Given the description of an element on the screen output the (x, y) to click on. 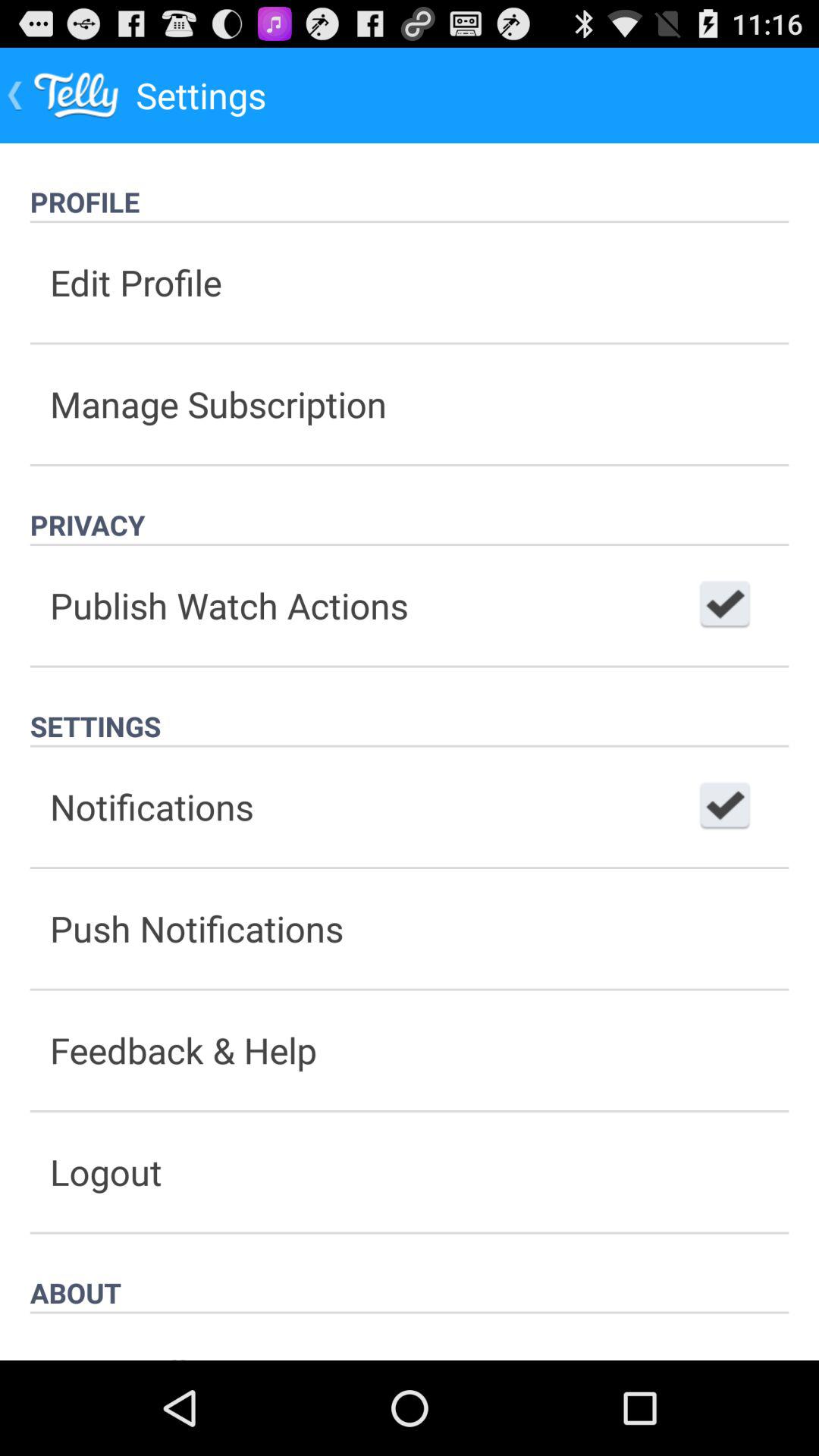
launch app below about icon (409, 1336)
